Given the description of an element on the screen output the (x, y) to click on. 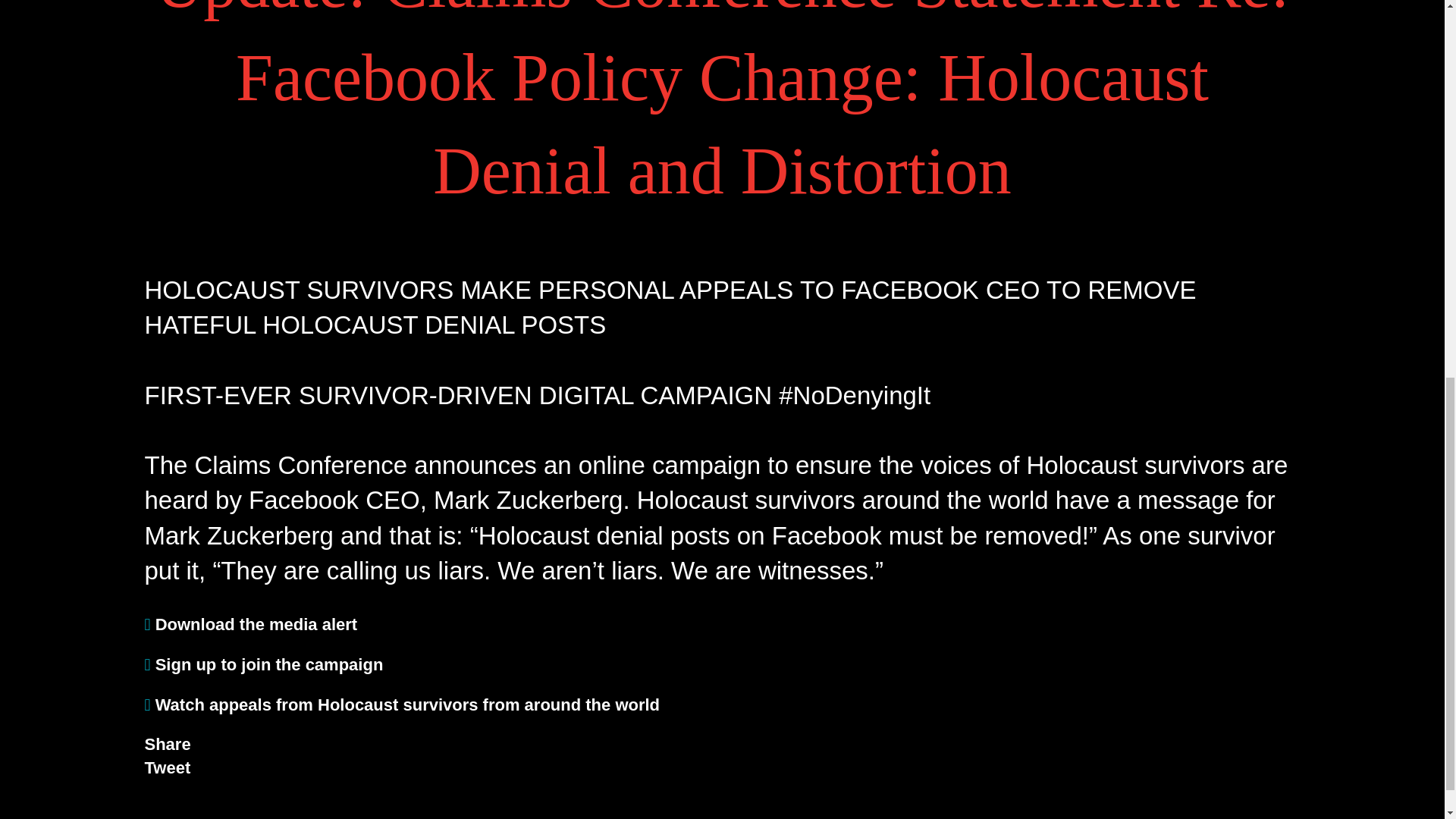
Watch appeals from Holocaust survivors from around the world (401, 704)
Sign up to join the campaign (263, 664)
Share (167, 743)
Download the media alert (250, 624)
Tweet (167, 767)
